Given the description of an element on the screen output the (x, y) to click on. 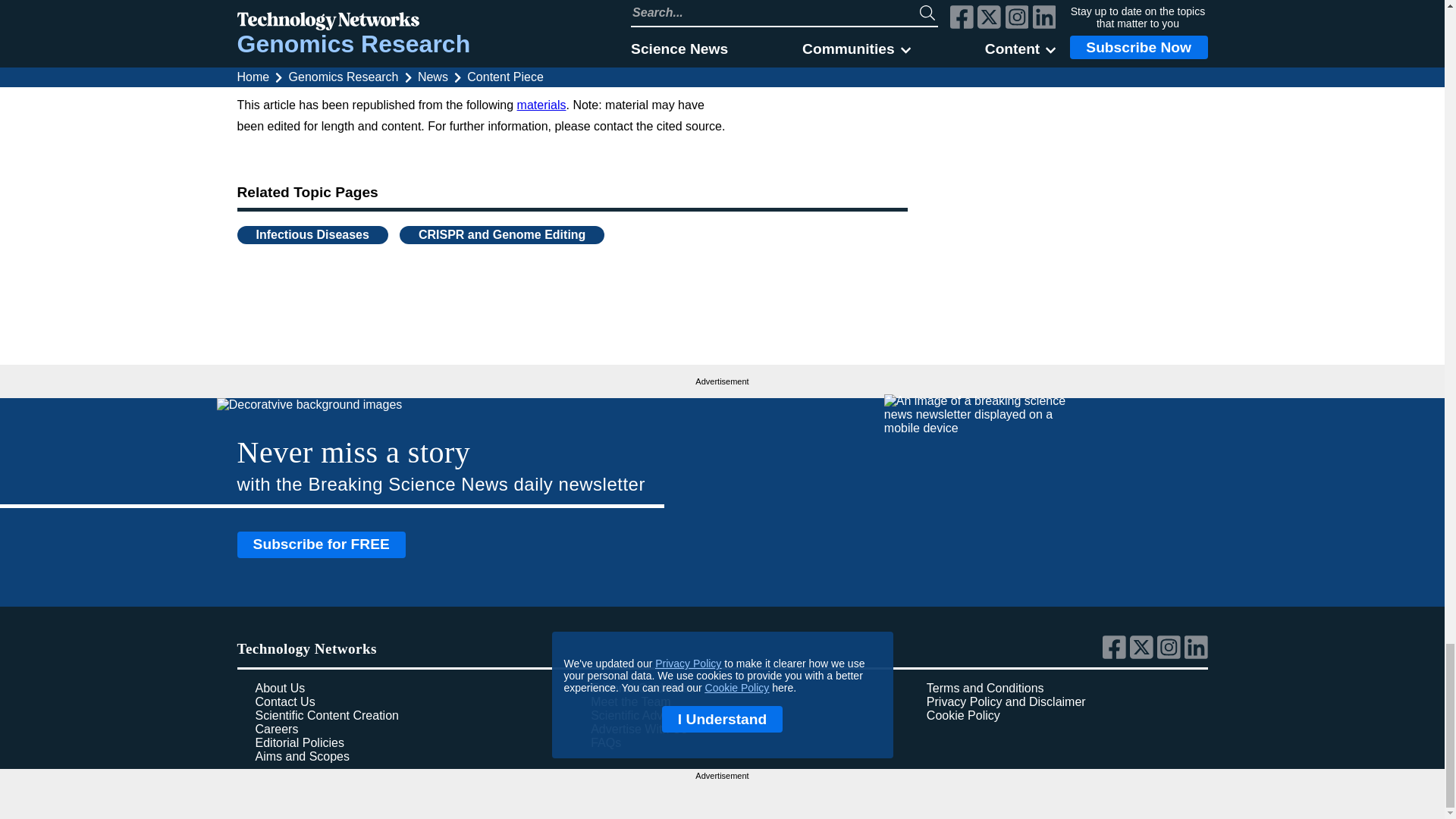
Link to Technology Networks' facebook page (1115, 655)
Link to Technology Networks' linkedin page (1196, 655)
Link to Technology Networks' twitter page (1143, 655)
Link to Technology Networks' instagram page (1171, 655)
